Given the description of an element on the screen output the (x, y) to click on. 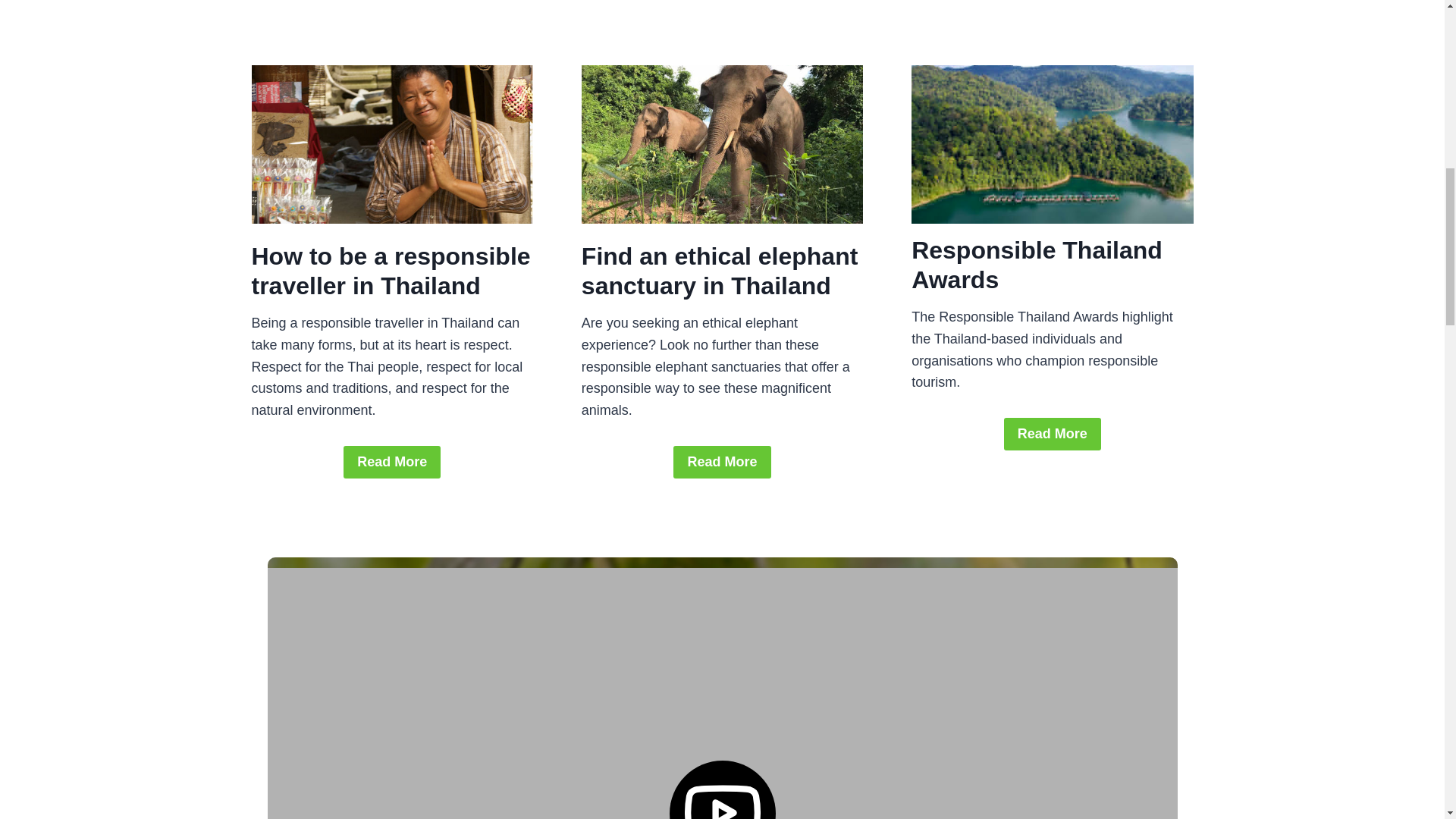
Read More (1052, 433)
Read More (392, 461)
Read More (721, 461)
How to be a responsible traveller in Thailand (391, 270)
Responsible Thailand Awards (1036, 264)
Find an ethical elephant sanctuary in Thailand (719, 270)
